Given the description of an element on the screen output the (x, y) to click on. 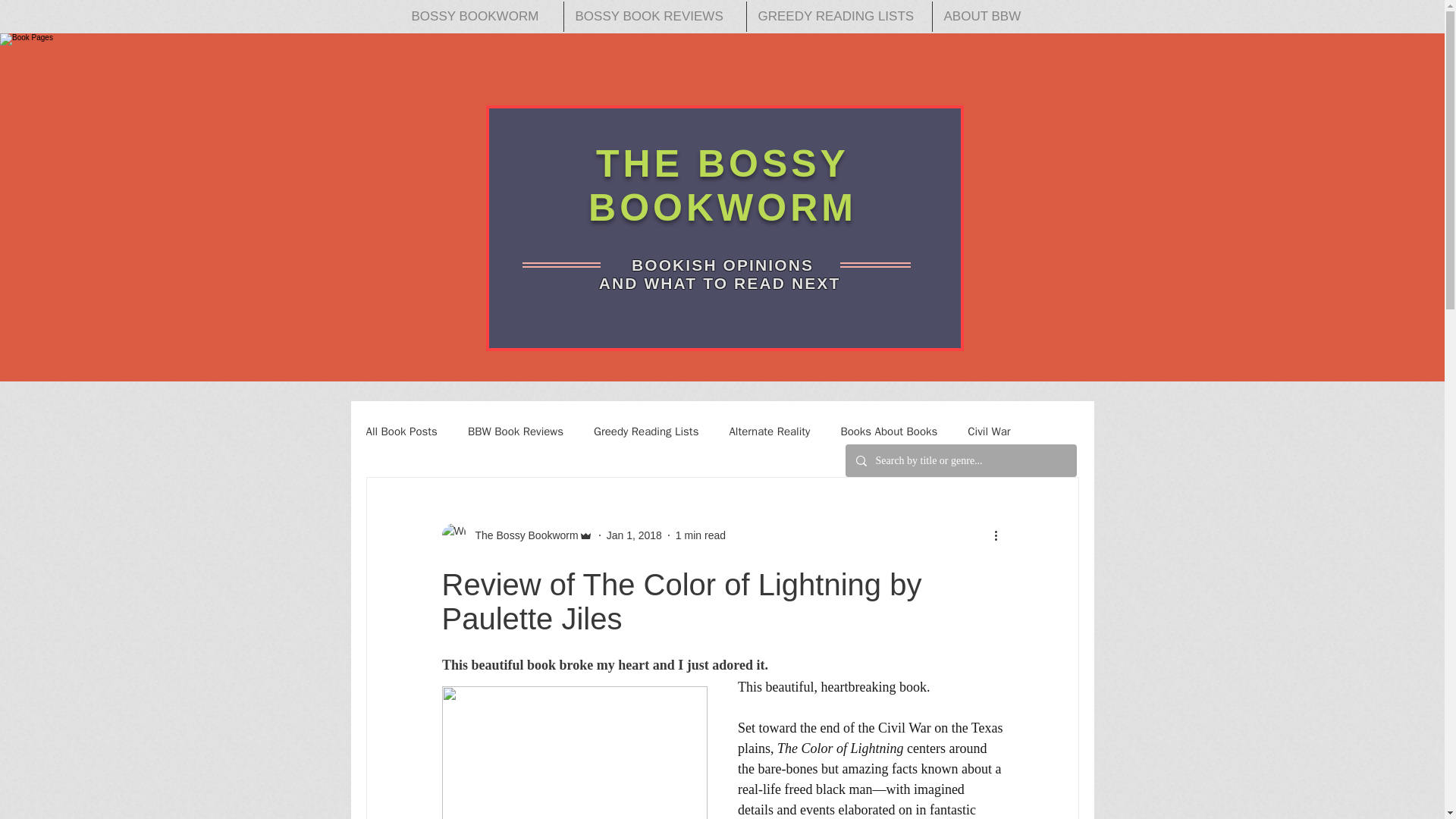
Books About Books (888, 431)
THE BOSSY (721, 163)
ABOUT BBW (987, 16)
AND WHAT TO READ NEXT  (722, 282)
GREEDY READING LISTS (838, 16)
The Bossy Bookworm (521, 535)
Greedy Reading Lists (646, 431)
Jan 1, 2018 (634, 535)
Civil War (989, 431)
BBW Book Reviews (515, 431)
